Given the description of an element on the screen output the (x, y) to click on. 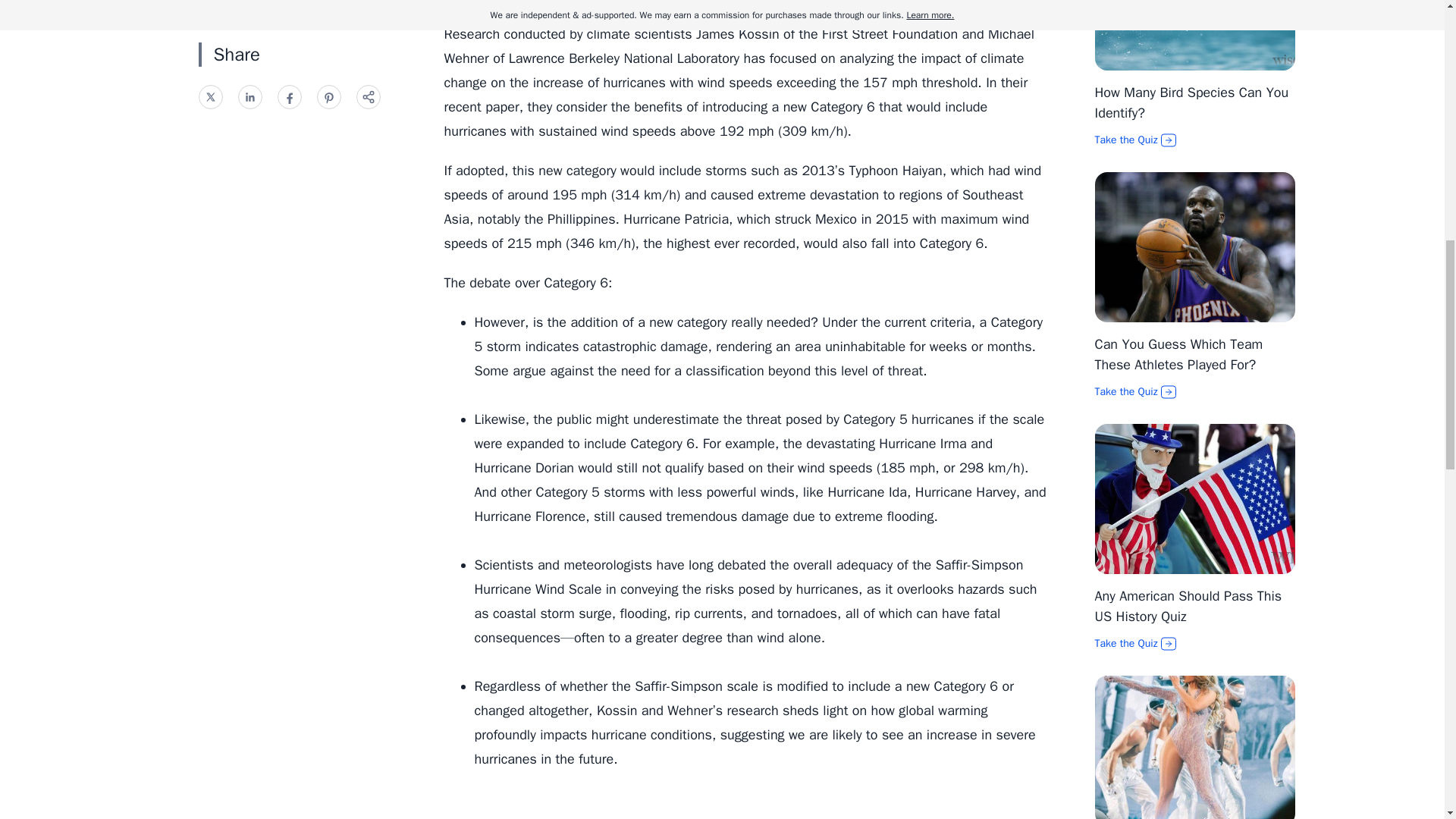
How Many Bird Species Can You Identify? (1191, 102)
Any American Should Pass This US History Quiz (1188, 606)
Take the Quiz (1194, 391)
Can You Guess Which Team These Athletes Played For? (1178, 354)
Take the Quiz (1194, 140)
